Given the description of an element on the screen output the (x, y) to click on. 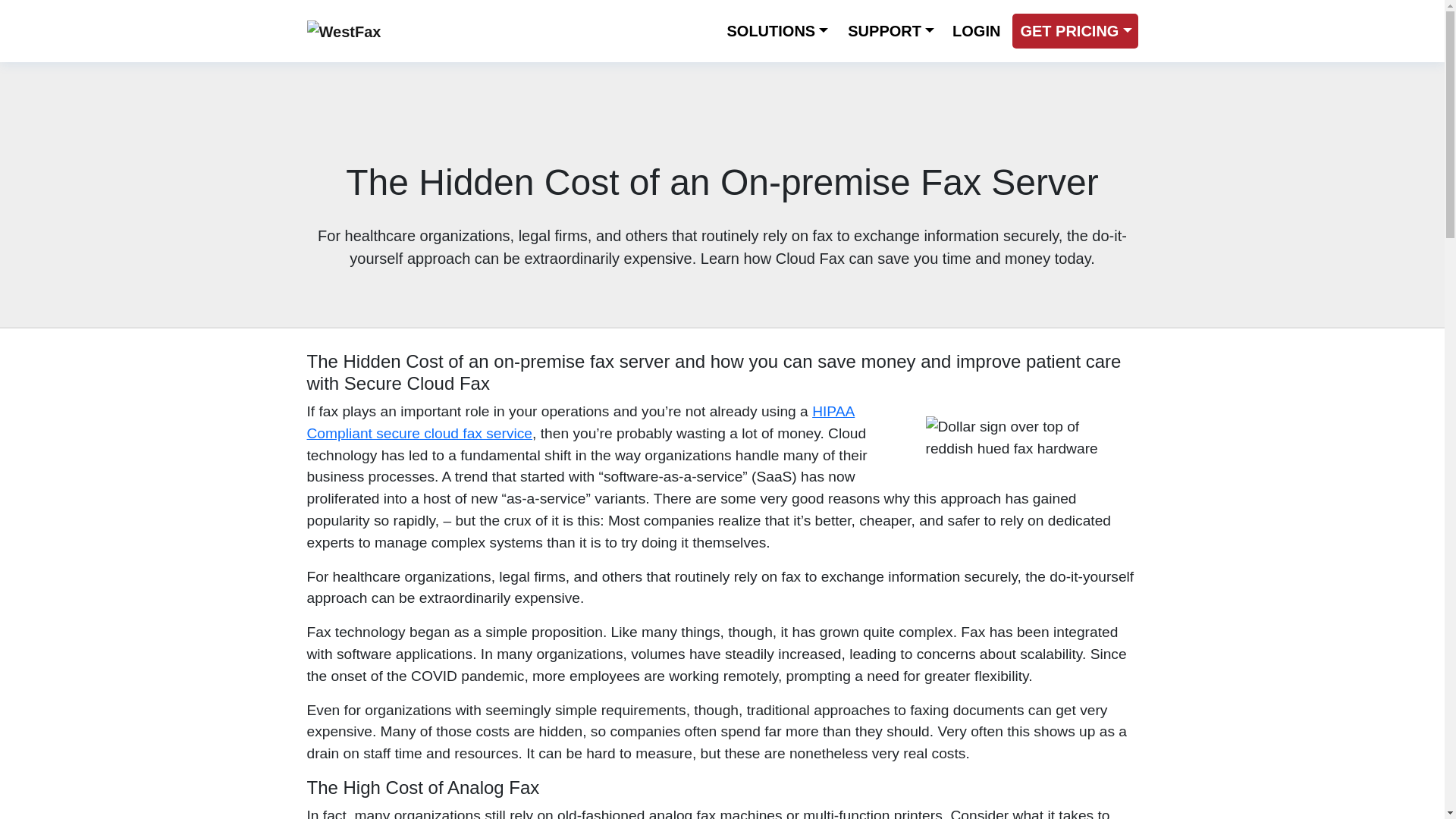
SOLUTIONS (776, 30)
LOGIN (976, 30)
SUPPORT (890, 30)
GET PRICING (1074, 30)
SOLUTIONS (776, 30)
HIPAA Compliant secure cloud fax service (579, 422)
GET PRICING (1074, 30)
SUPPORT (890, 30)
